Given the description of an element on the screen output the (x, y) to click on. 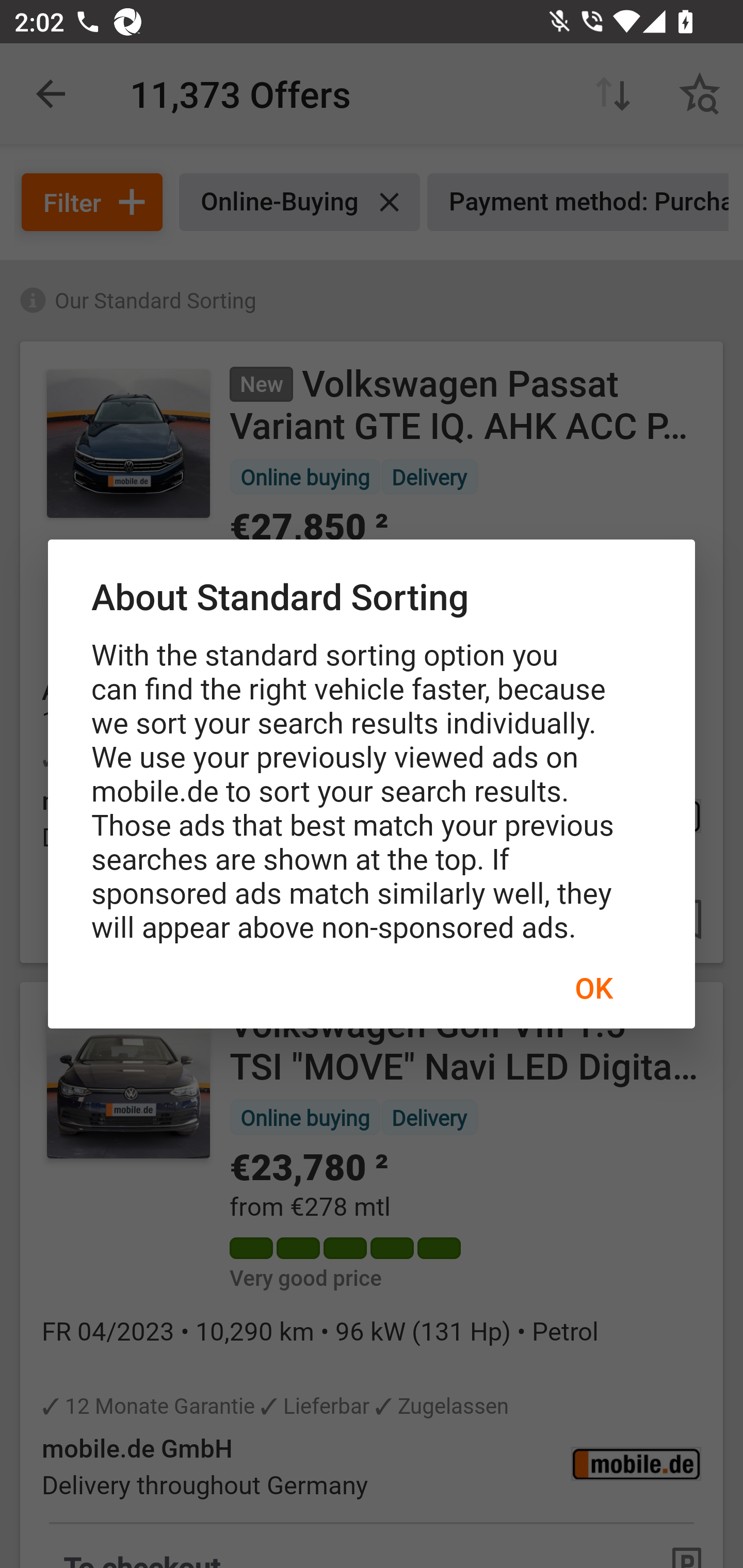
OK (593, 986)
